Given the description of an element on the screen output the (x, y) to click on. 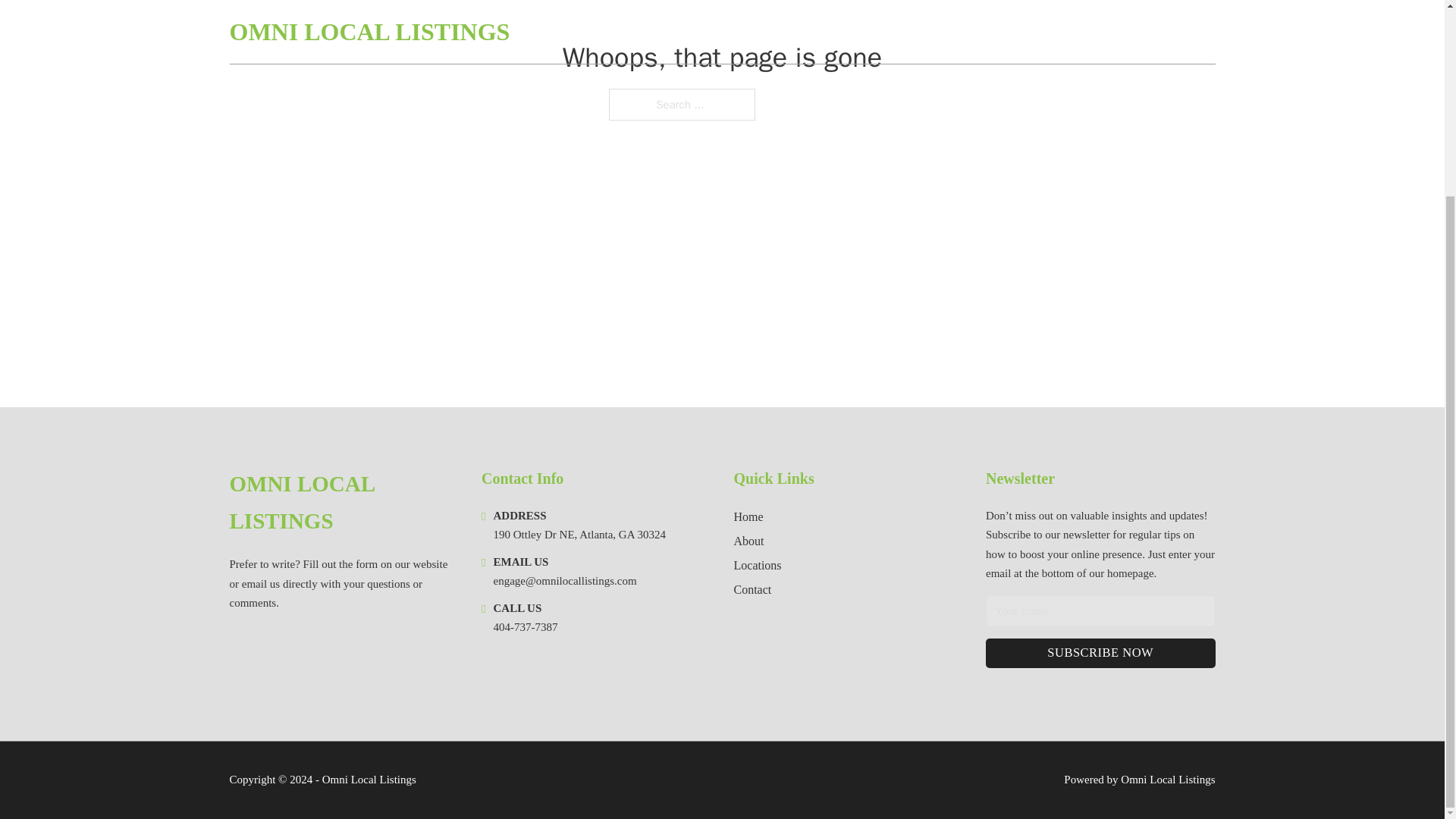
404-737-7387 (525, 626)
OMNI LOCAL LISTINGS (343, 503)
Home (747, 516)
Contact (752, 589)
SUBSCRIBE NOW (1100, 653)
About (748, 540)
Locations (757, 565)
